Given the description of an element on the screen output the (x, y) to click on. 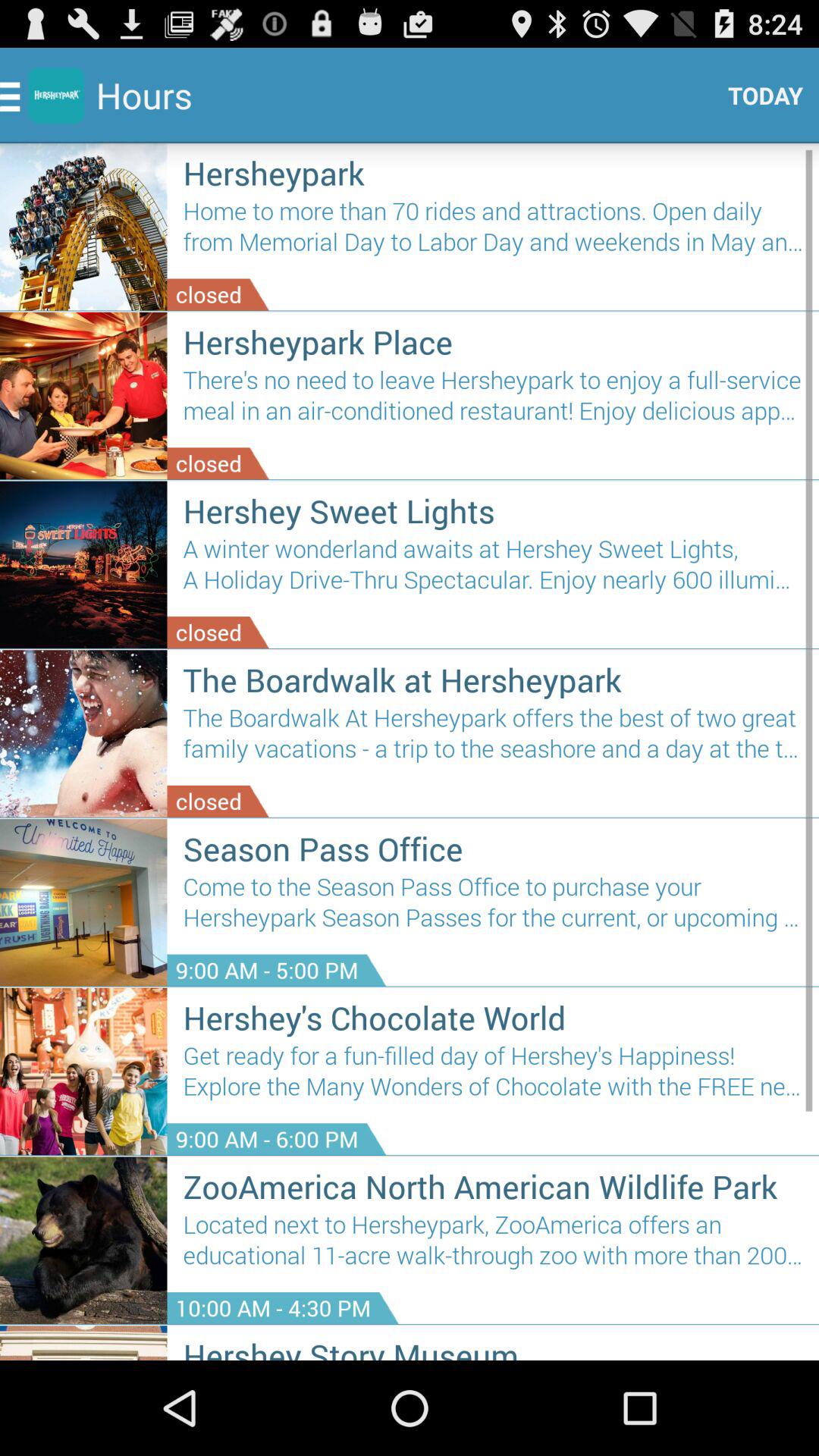
tap hershey story museum (493, 1346)
